Given the description of an element on the screen output the (x, y) to click on. 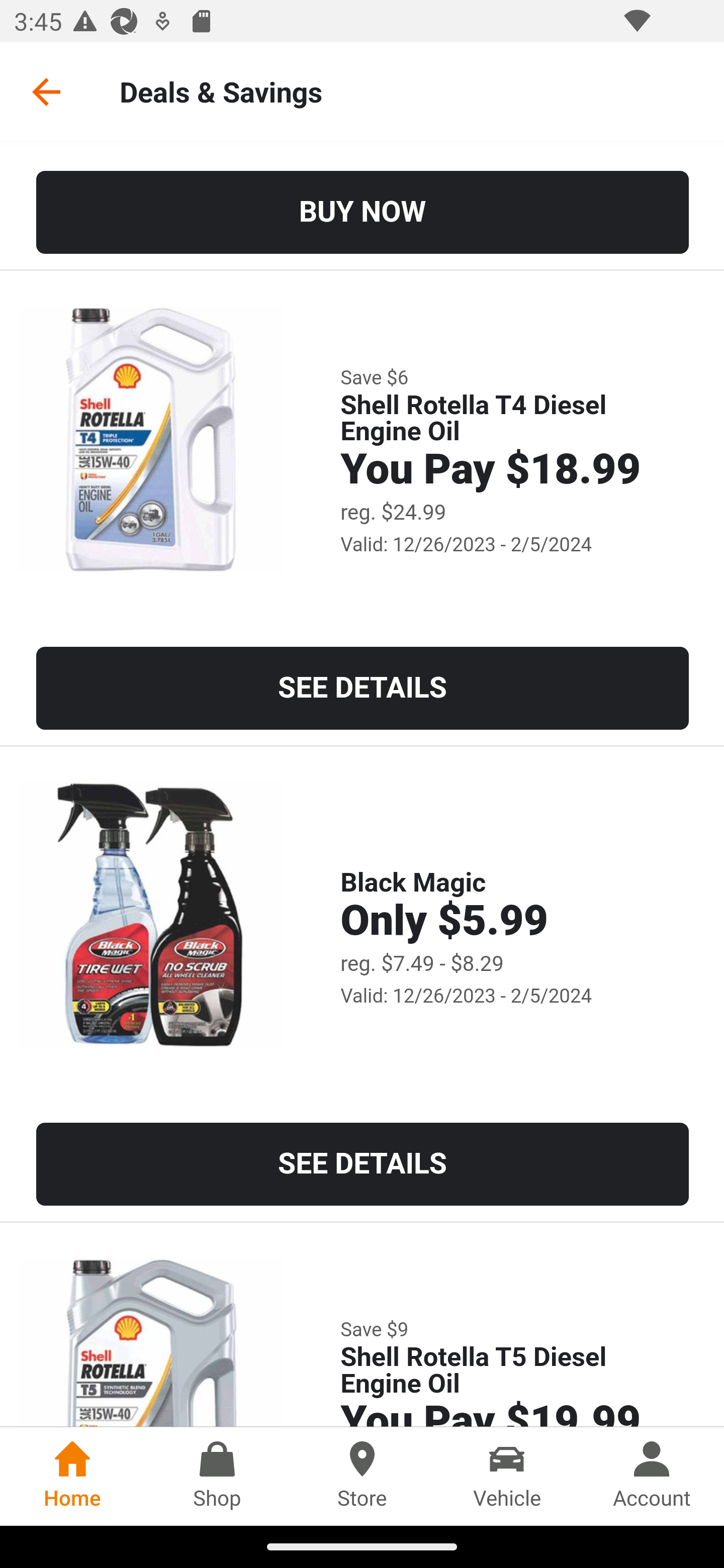
Go back (45, 91)
BUY NOW (362, 212)
See Details on Black Magic offer SEE DETAILS (362, 1164)
Home (72, 1475)
Shop (216, 1475)
Store (361, 1475)
Vehicle (506, 1475)
Account (651, 1475)
